Given the description of an element on the screen output the (x, y) to click on. 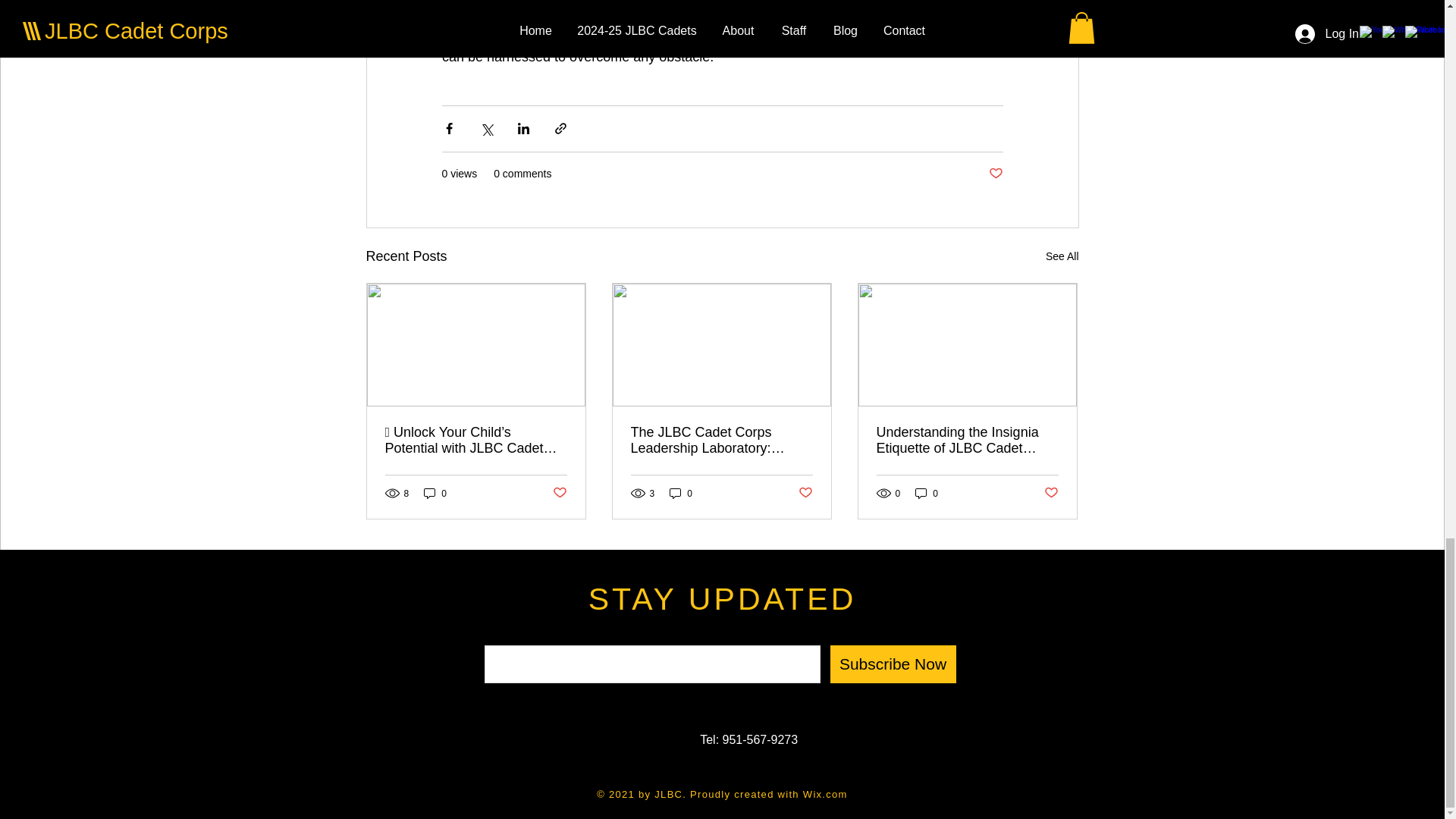
See All (1061, 256)
Post not marked as liked (995, 173)
